Given the description of an element on the screen output the (x, y) to click on. 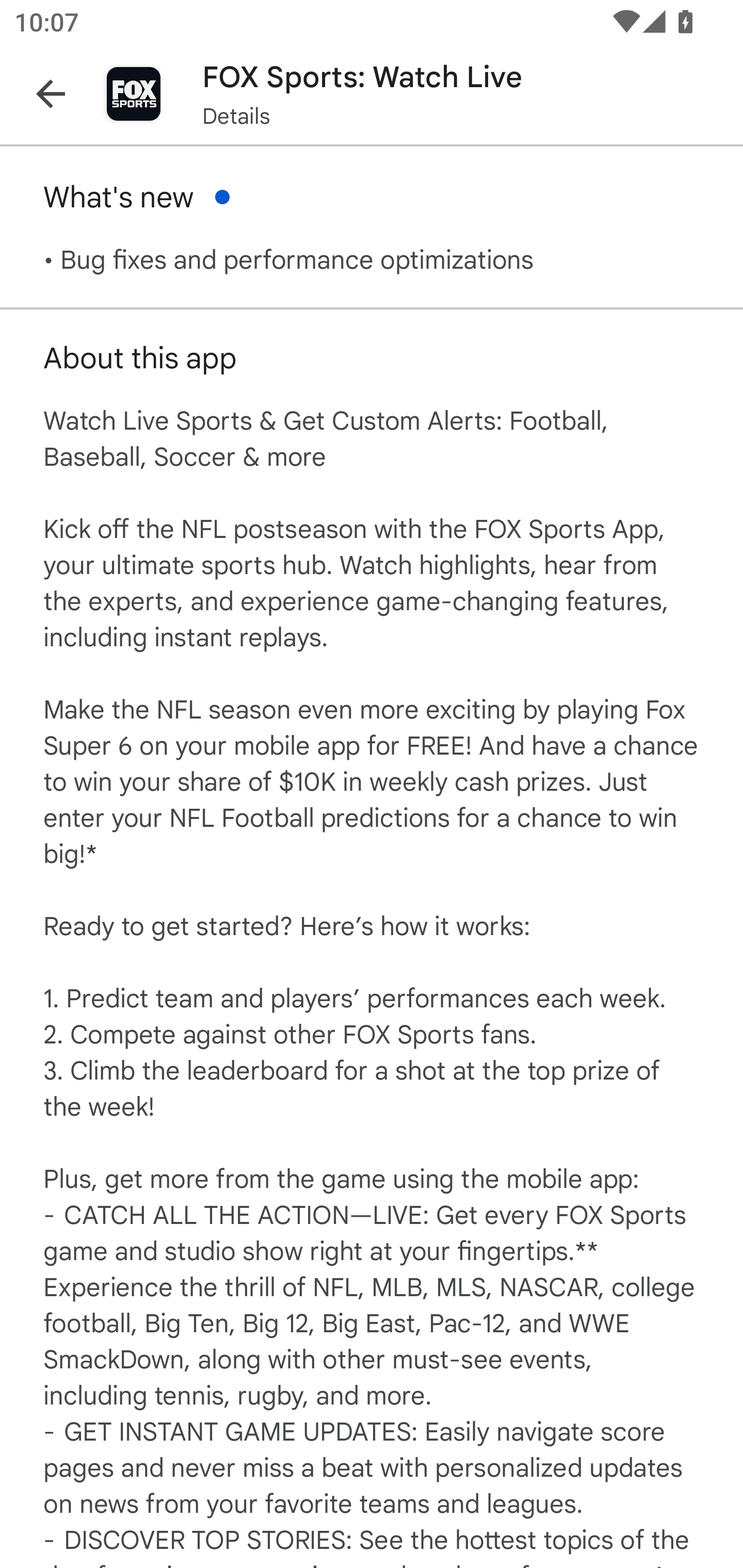
Navigate up (50, 93)
